Given the description of an element on the screen output the (x, y) to click on. 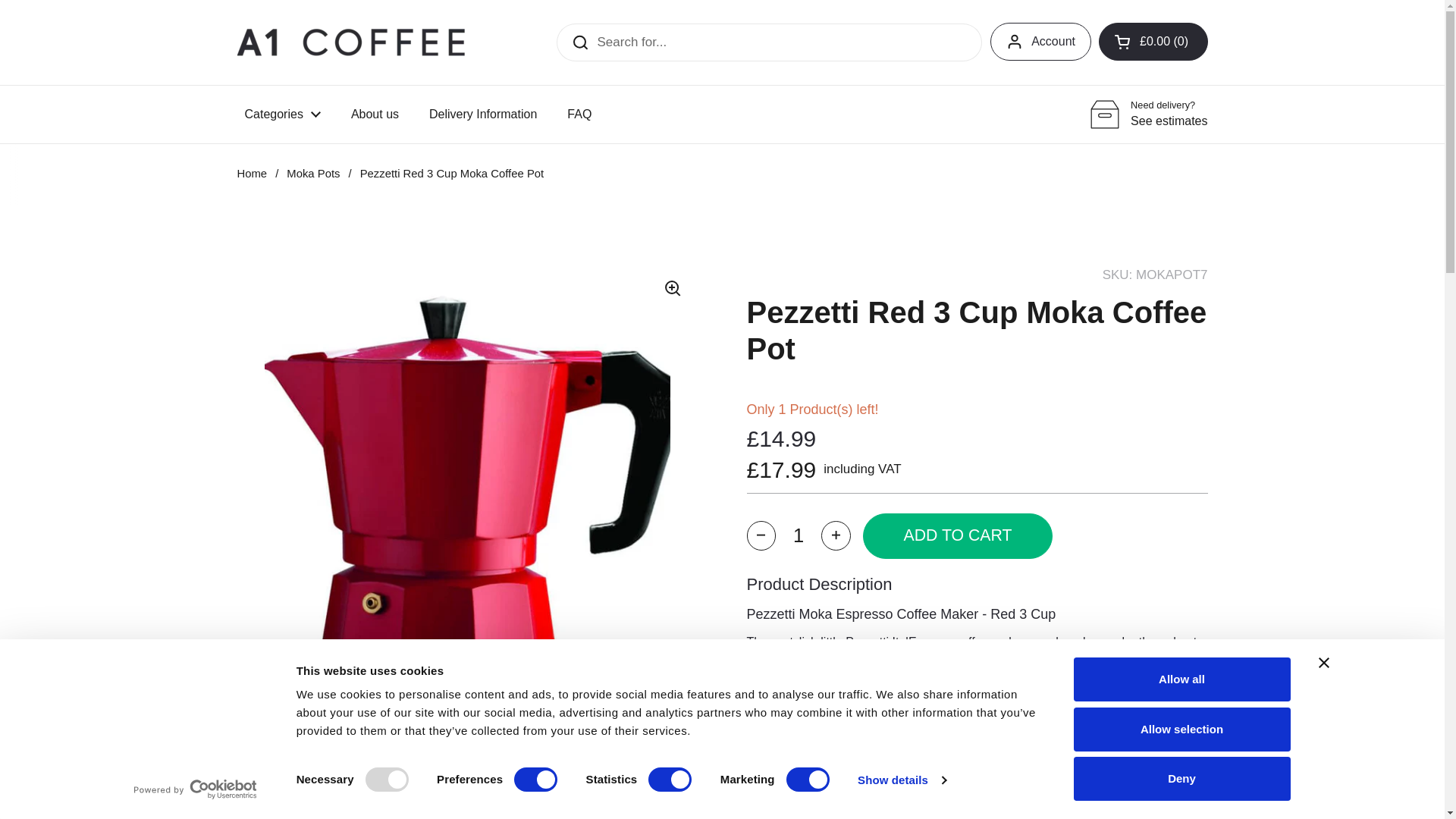
1 (798, 534)
Show details (900, 780)
A1 Coffee (349, 41)
Open cart (1153, 41)
